Given the description of an element on the screen output the (x, y) to click on. 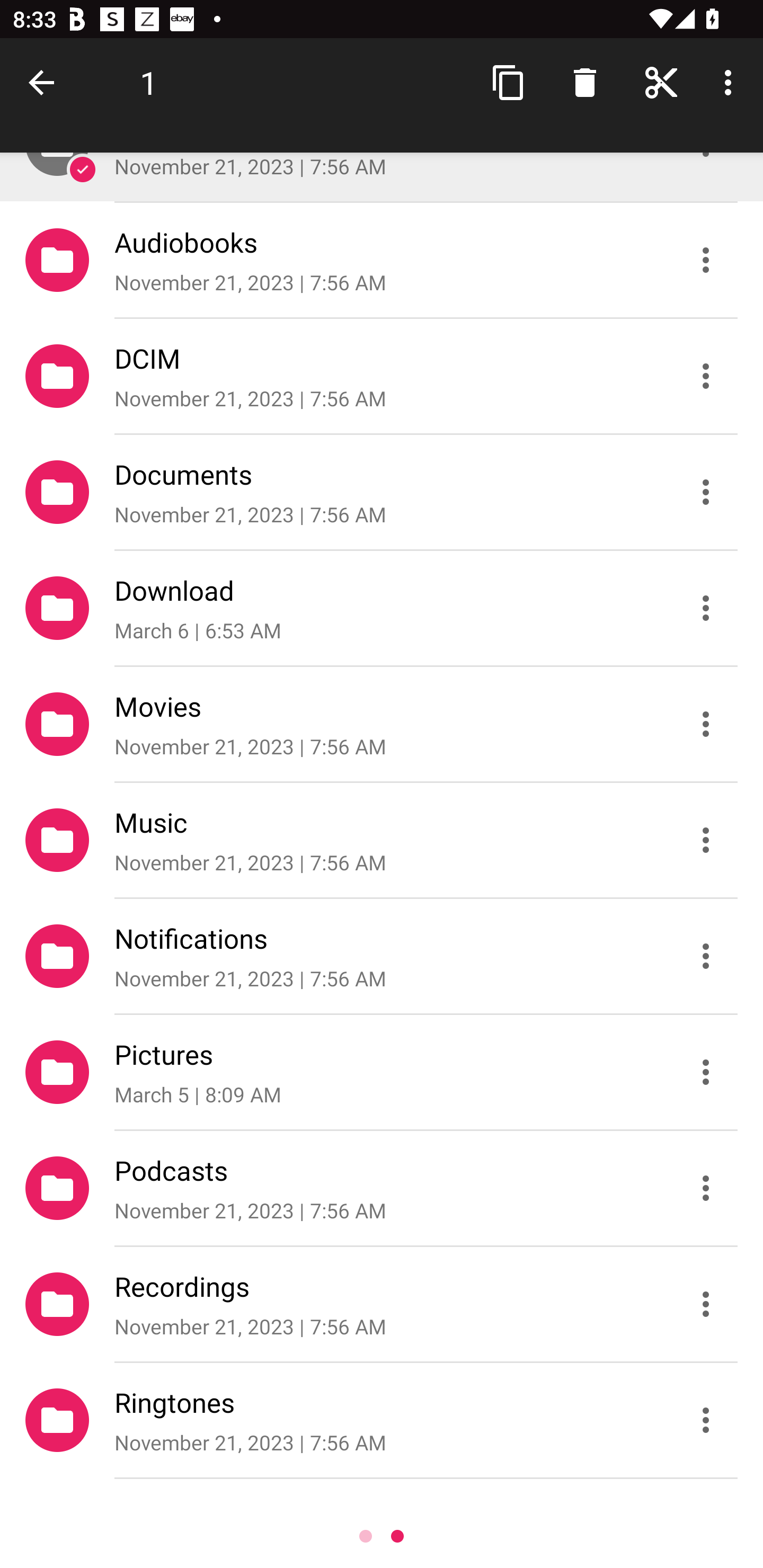
1 (148, 82)
Done (44, 81)
Copy (508, 81)
Delete (585, 81)
Cut (661, 81)
More options (731, 81)
Audiobooks November 21, 2023 | 7:56 AM (381, 259)
DCIM November 21, 2023 | 7:56 AM (381, 375)
Documents November 21, 2023 | 7:56 AM (381, 491)
Download March 6 | 6:53 AM (381, 607)
Movies November 21, 2023 | 7:56 AM (381, 723)
Music November 21, 2023 | 7:56 AM (381, 839)
Notifications November 21, 2023 | 7:56 AM (381, 955)
Pictures March 5 | 8:09 AM (381, 1071)
Podcasts November 21, 2023 | 7:56 AM (381, 1187)
Recordings November 21, 2023 | 7:56 AM (381, 1303)
Ringtones November 21, 2023 | 7:56 AM (381, 1419)
